Given the description of an element on the screen output the (x, y) to click on. 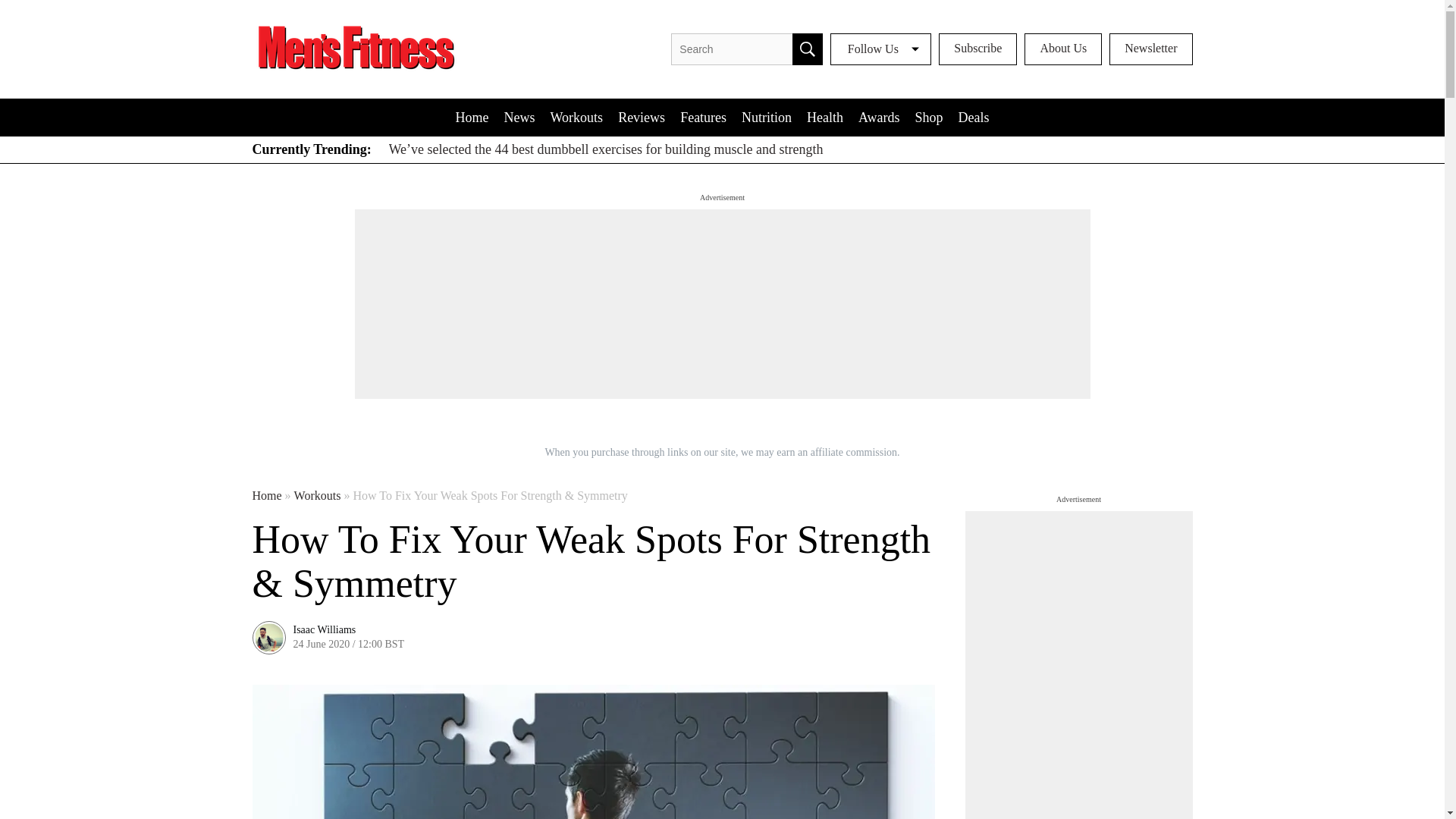
Search (807, 49)
Follow Us (880, 49)
Workouts (577, 117)
Awards (878, 117)
Health (824, 117)
Newsletter (1150, 49)
About Us (1063, 49)
Deals (972, 117)
Features (702, 117)
Home (266, 495)
